Given the description of an element on the screen output the (x, y) to click on. 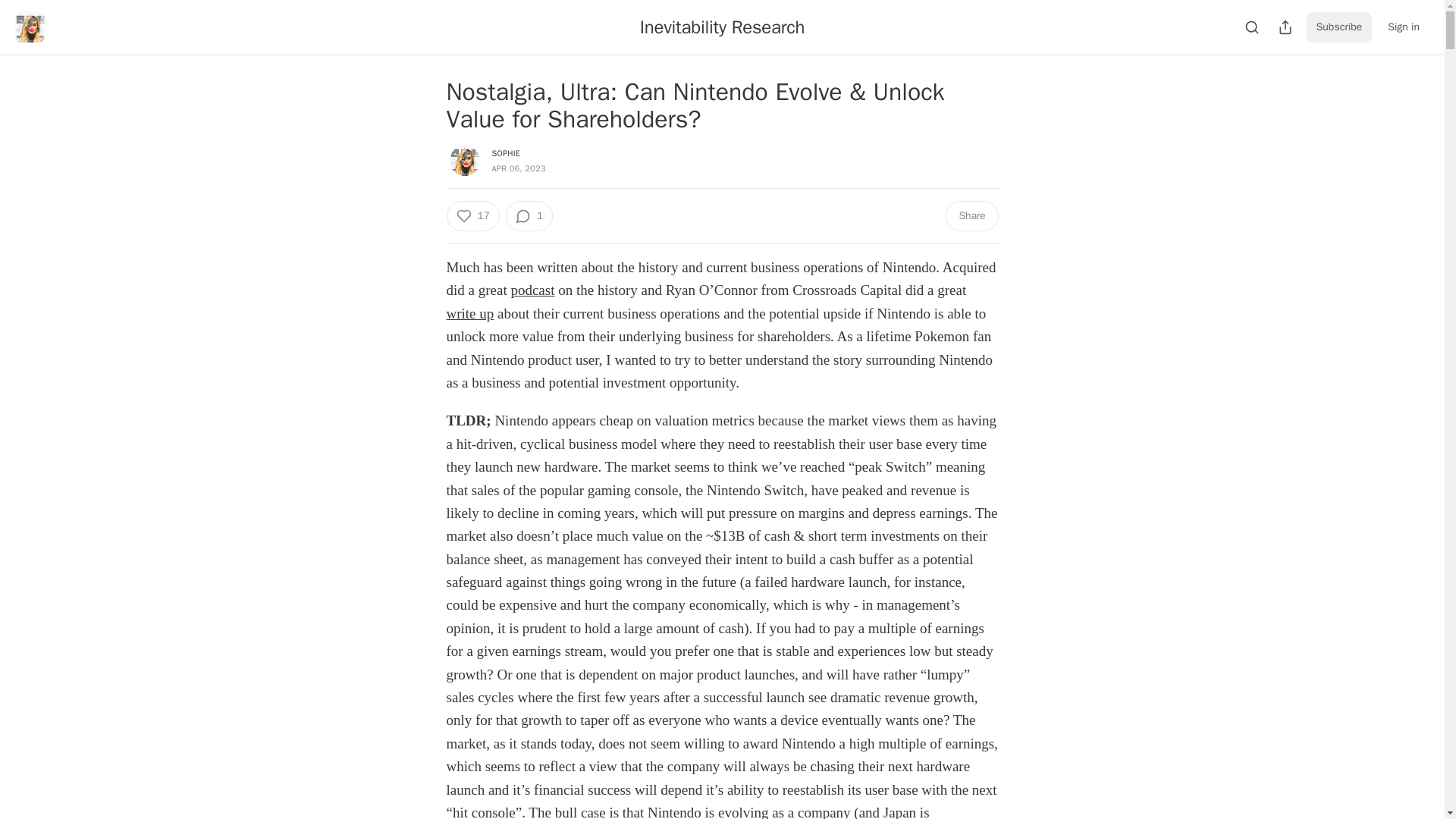
17 (472, 215)
Share (970, 215)
Sign in (1403, 27)
1 (529, 215)
podcast (532, 289)
SOPHIE (505, 153)
write up (469, 313)
Inevitability Research (722, 26)
Subscribe (1339, 27)
